Given the description of an element on the screen output the (x, y) to click on. 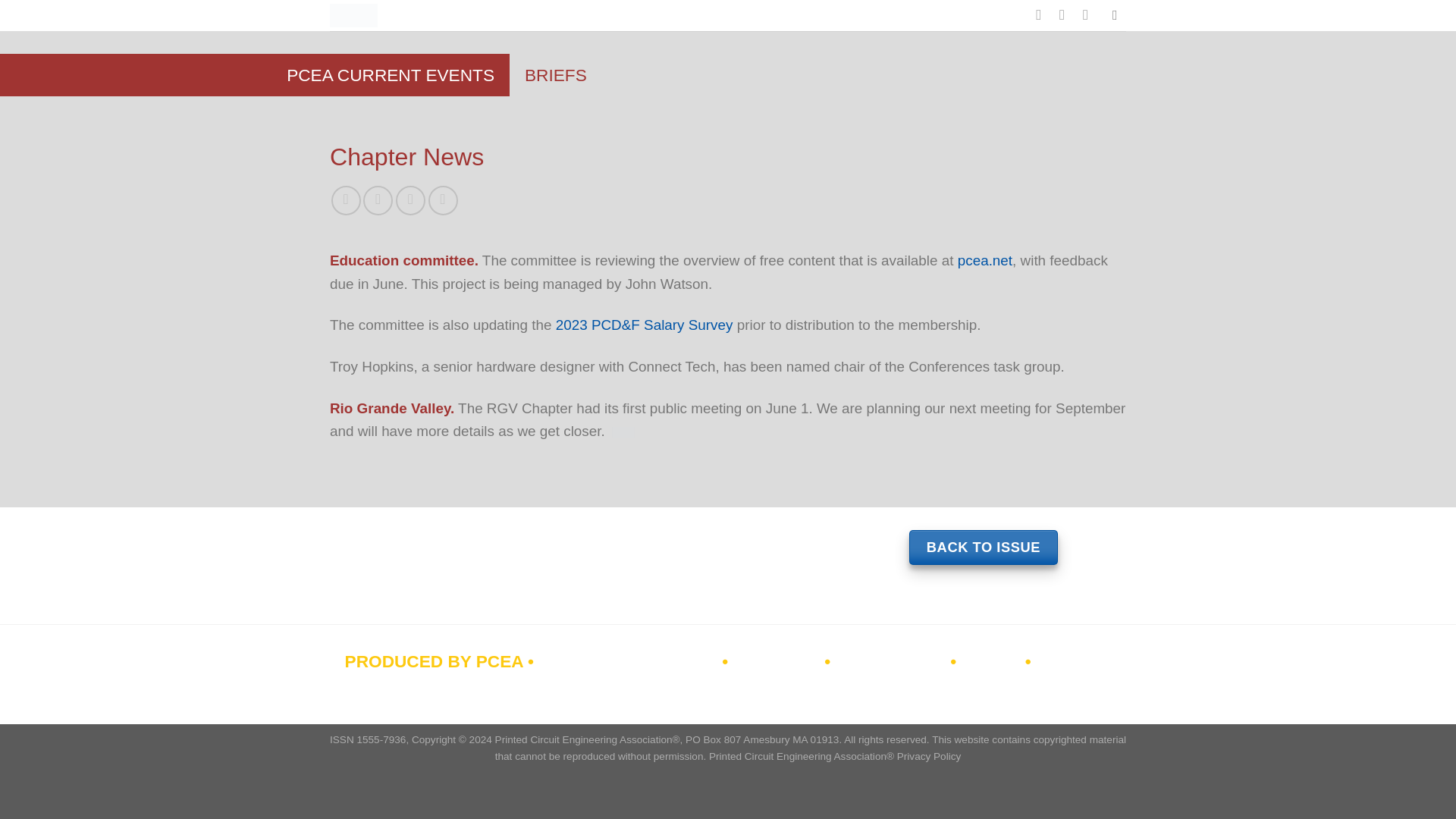
PRINTED CIRCUIT UNIVERSITY (874, 674)
PCB UPDATE (890, 660)
BACK TO ISSUE (983, 547)
PCB EAST (776, 660)
pcea.net (984, 260)
CIRCUITS ASSEMBLY (627, 660)
Send us an email (1066, 14)
Share on Twitter (377, 200)
Share on LinkedIn (443, 200)
Follow on LinkedIn (1090, 14)
